Given the description of an element on the screen output the (x, y) to click on. 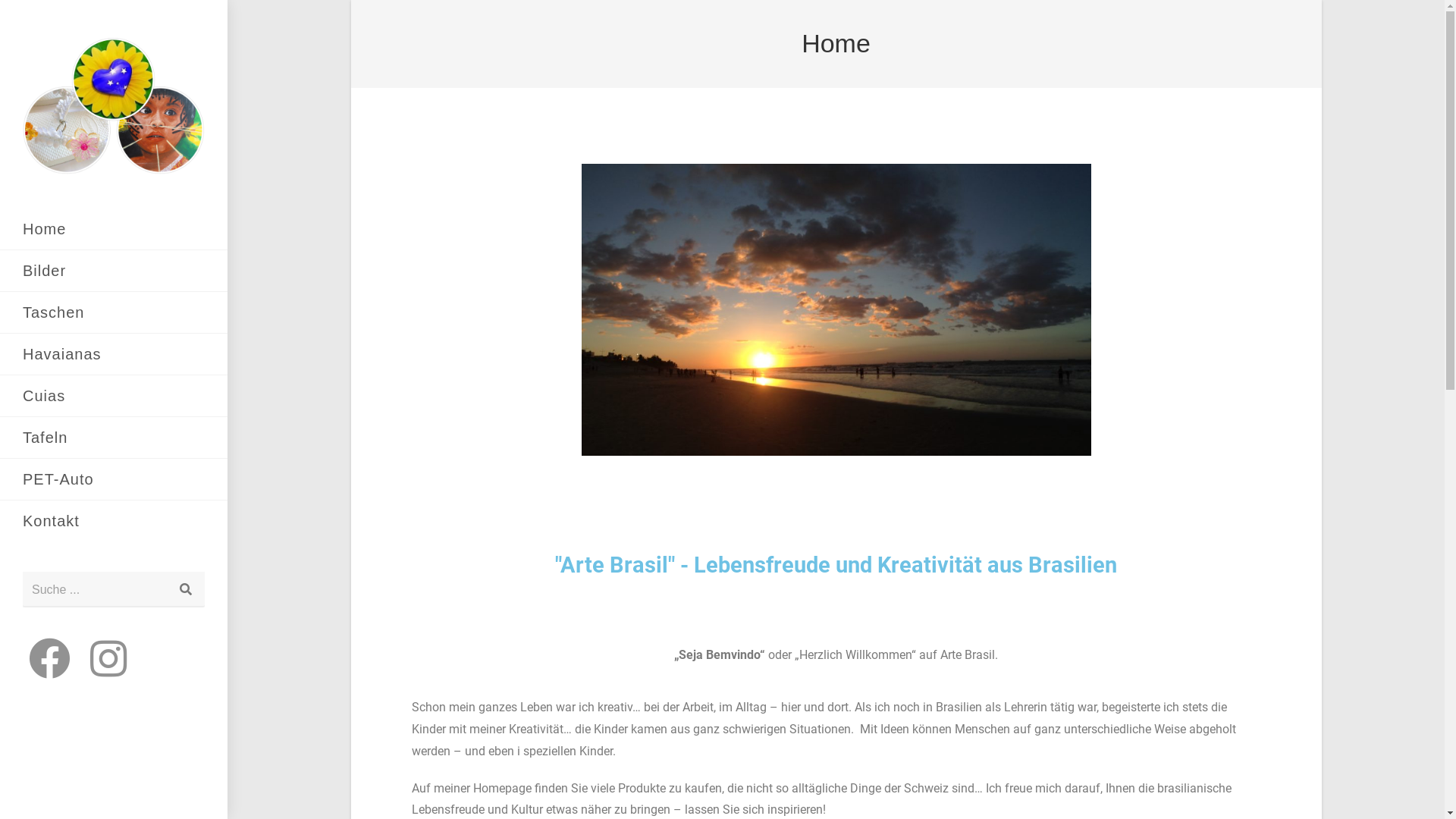
Kontakt Element type: text (113, 520)
PET-Auto Element type: text (113, 478)
Havaianas Element type: text (113, 353)
Tafeln Element type: text (113, 437)
Bilder Element type: text (113, 270)
Cuias Element type: text (113, 395)
Taschen Element type: text (113, 311)
Home Element type: text (113, 228)
